Given the description of an element on the screen output the (x, y) to click on. 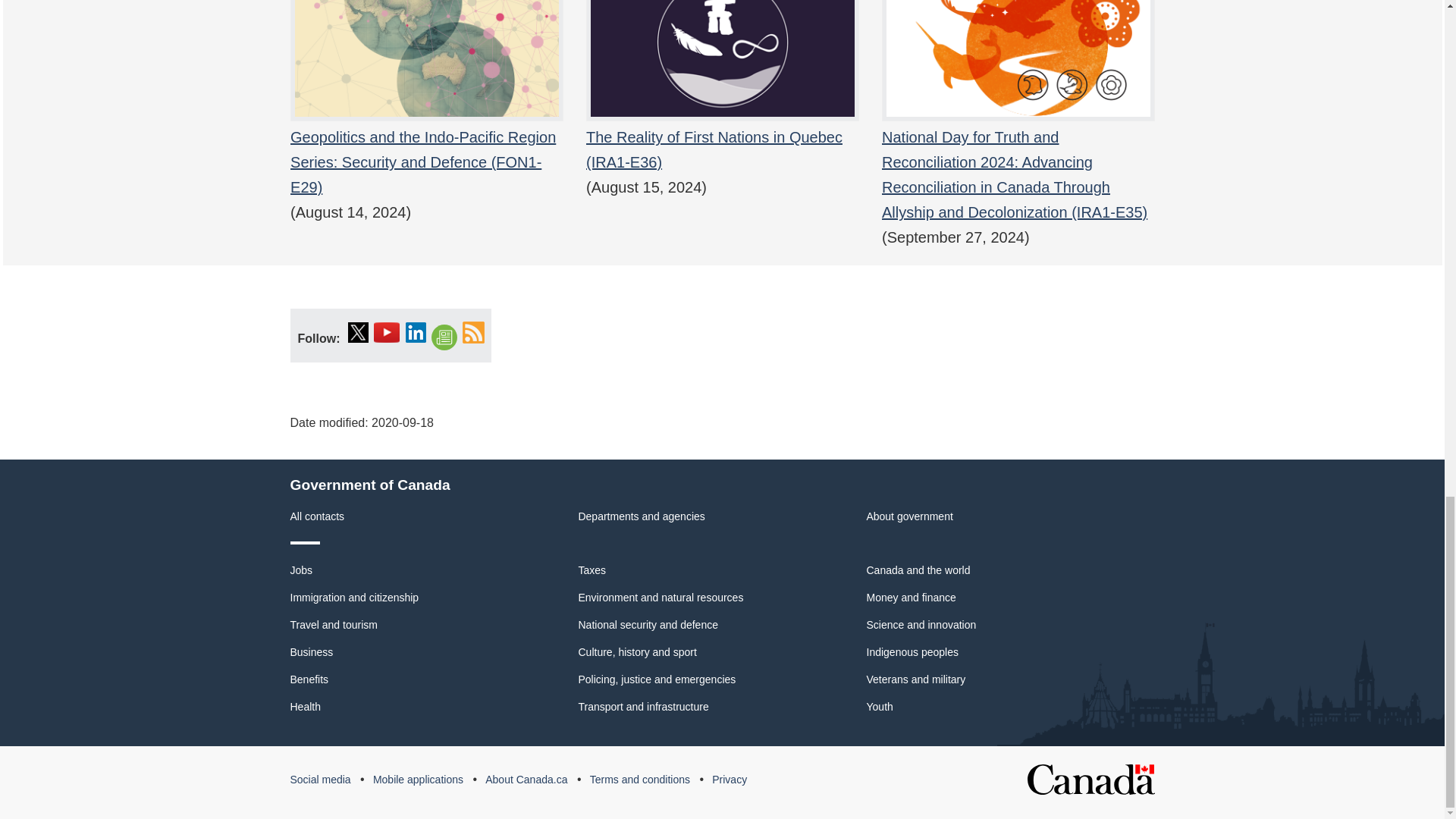
RSS (472, 332)
Twitter (357, 332)
YouTube (386, 332)
All contacts (316, 516)
About government (909, 516)
Twitter (357, 332)
GCLearning newsletter (443, 337)
YouTube (386, 332)
GCLearning newsletter (443, 337)
LinkedIn (415, 332)
RSS (472, 332)
LinkedIn (415, 332)
Departments and agencies (641, 516)
